Given the description of an element on the screen output the (x, y) to click on. 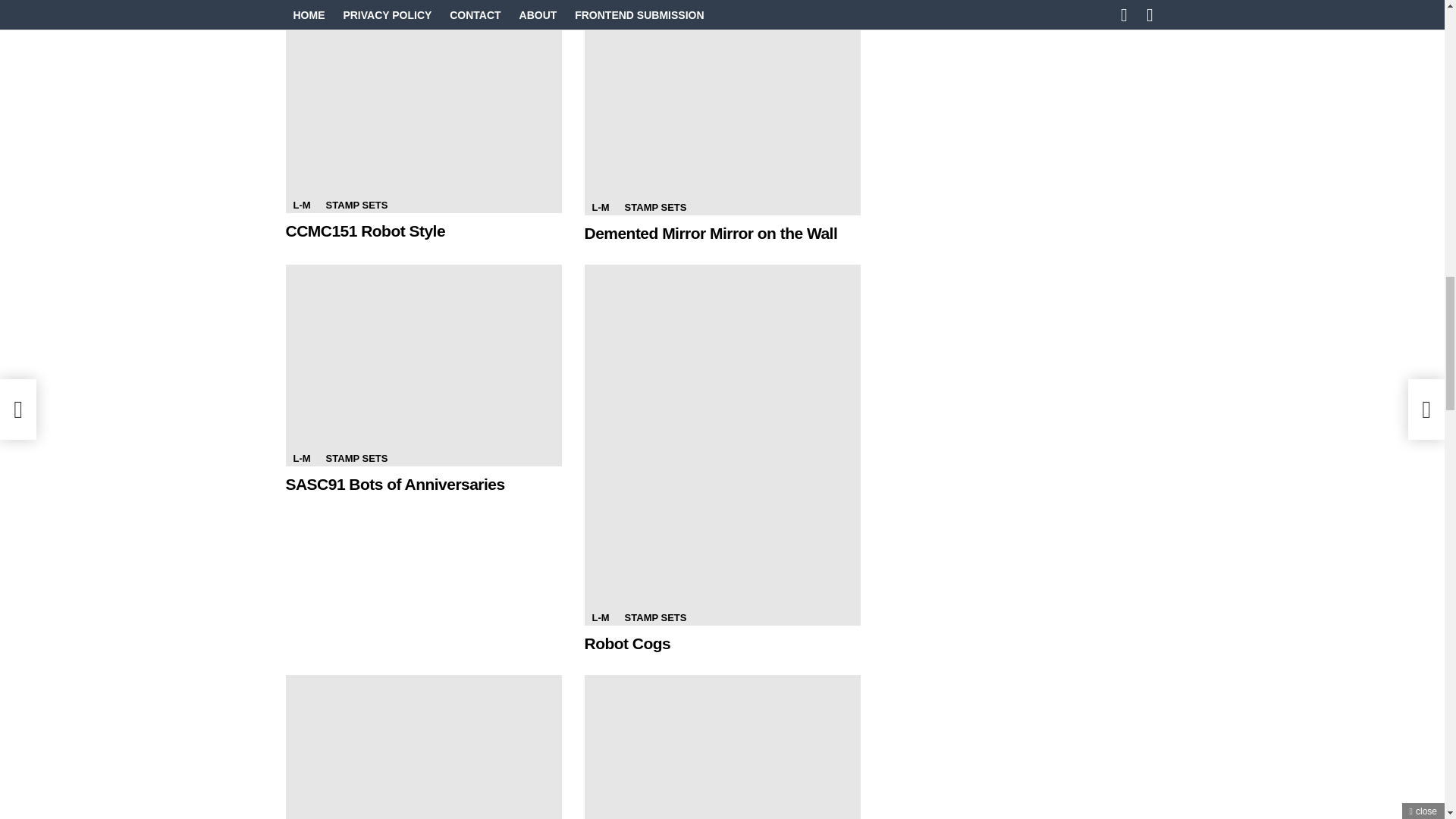
L-M (599, 207)
Robot Cogs (626, 642)
Demented Mirror Mirror on the Wall (710, 232)
STAMP SETS (357, 458)
Lots of Bots in Greenhouse Gala (721, 746)
STAMP SETS (357, 205)
CCMC151 Robot Style (422, 108)
SASC91 Bots of Anniversaries (394, 484)
L-M (301, 205)
SSC168 Robot for You (422, 746)
Demented Mirror Mirror on the Wall (721, 109)
L-M (301, 458)
CCMC151 Robot Style (365, 230)
L-M (599, 617)
STAMP SETS (655, 207)
